Given the description of an element on the screen output the (x, y) to click on. 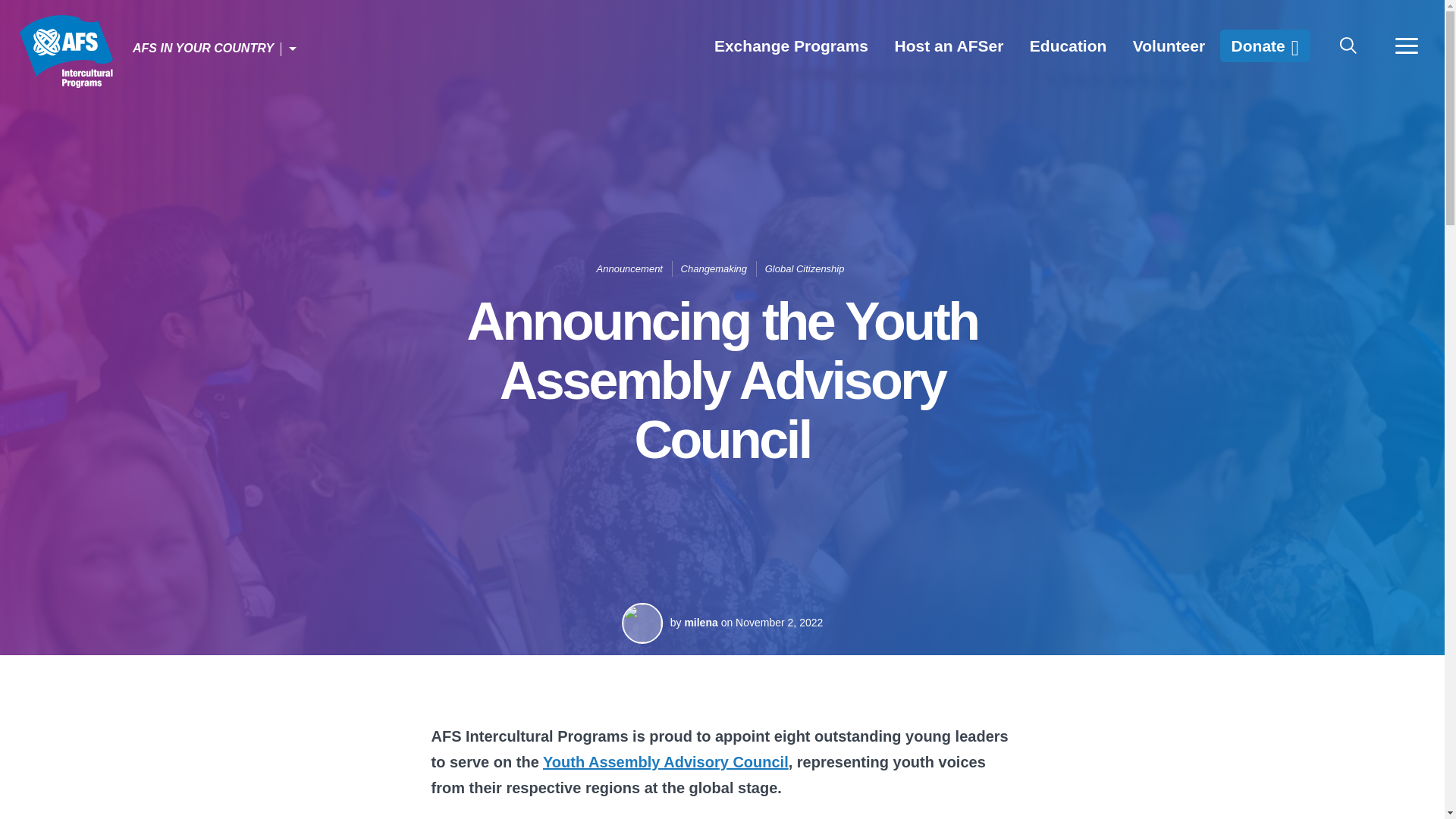
Volunteer (1168, 45)
AFS Intercultural Programs (65, 51)
MORE (1406, 45)
SEARCH (1347, 45)
AFS IN YOUR COUNTRY (215, 48)
Donate (1265, 45)
Exchange Programs (791, 45)
Host an AFSer (948, 45)
Education (1067, 45)
